Given the description of an element on the screen output the (x, y) to click on. 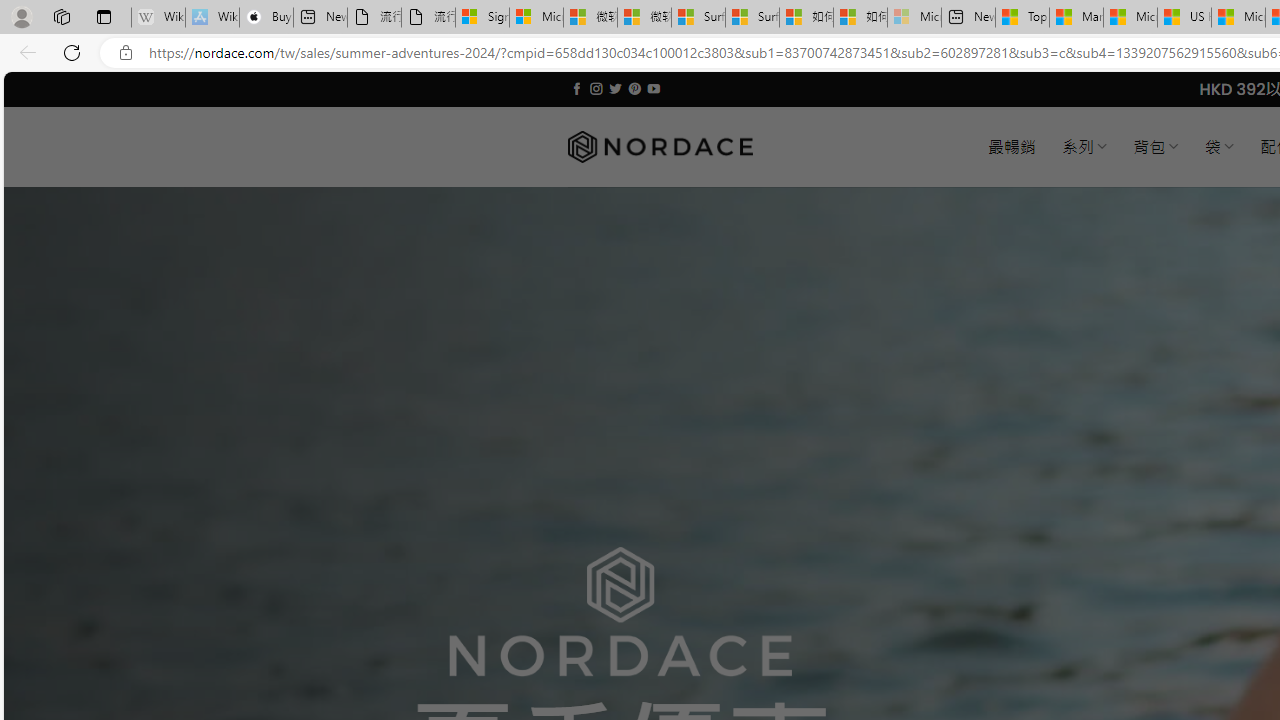
Follow on Facebook (576, 88)
Follow on Twitter (615, 88)
US Heat Deaths Soared To Record High Last Year (1184, 17)
Follow on Instagram (596, 88)
Microsoft Services Agreement (536, 17)
Wikipedia - Sleeping (158, 17)
Follow on Pinterest (634, 88)
